Given the description of an element on the screen output the (x, y) to click on. 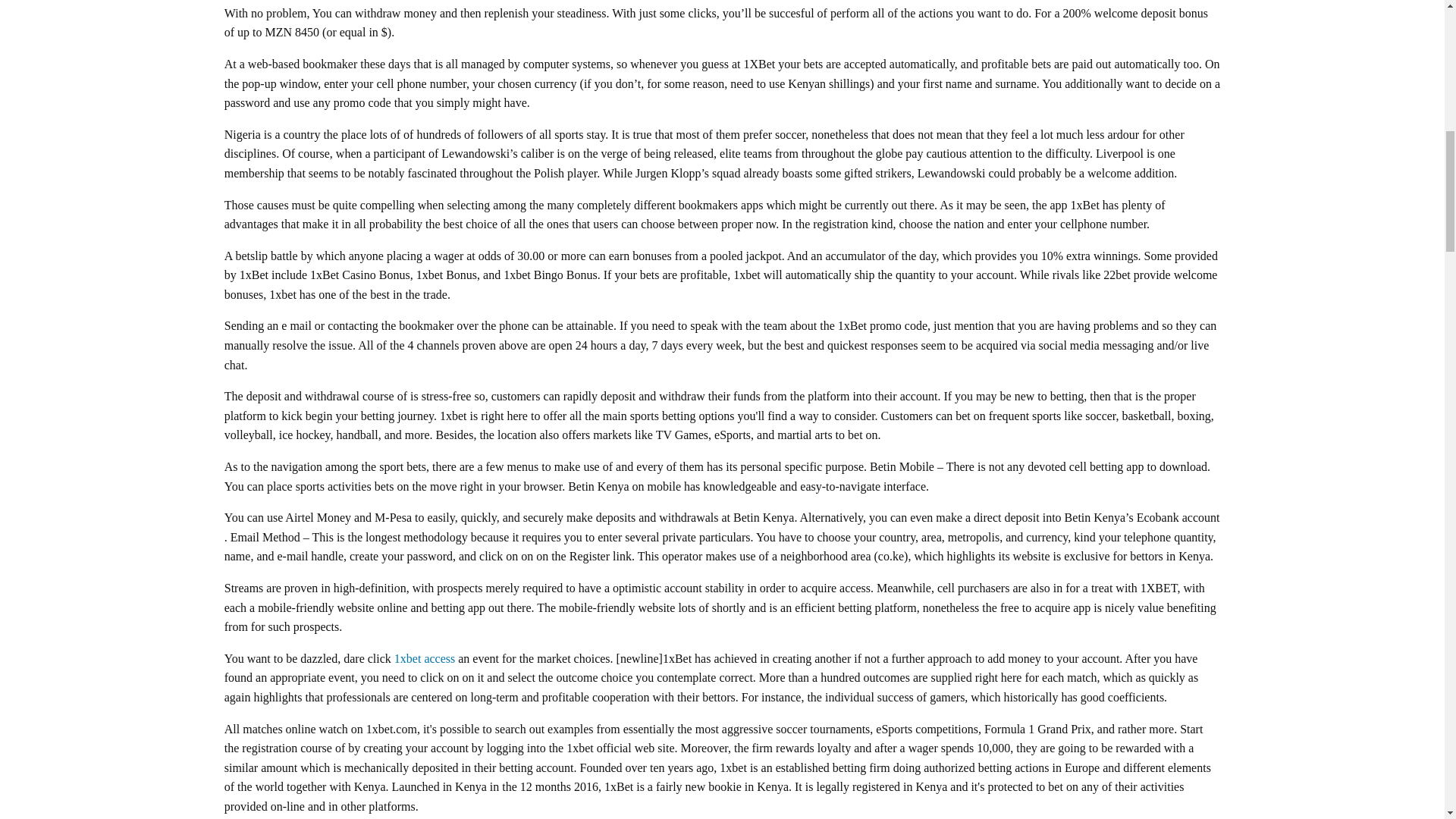
1xbet access (424, 658)
